Given the description of an element on the screen output the (x, y) to click on. 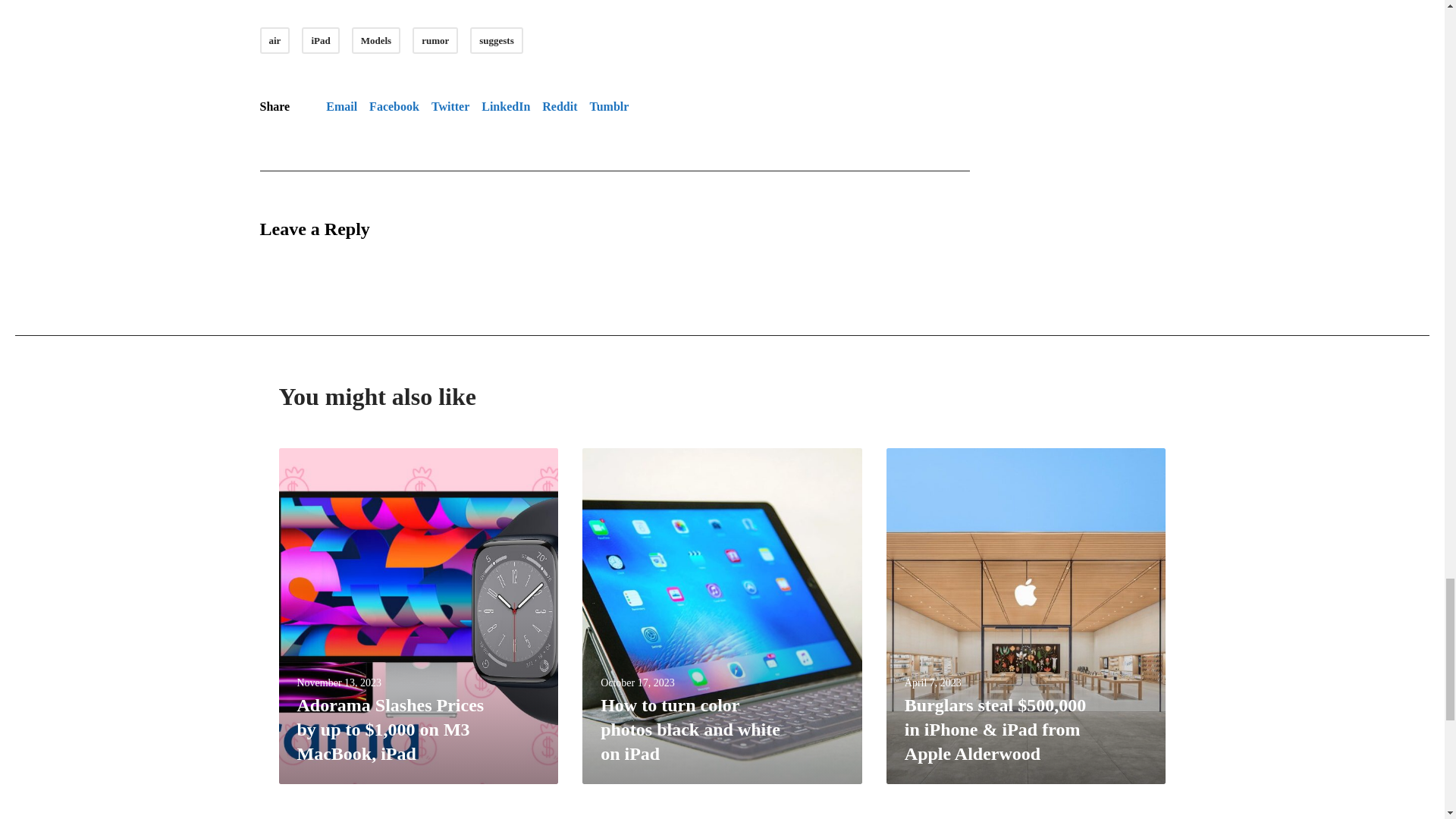
Reddit (558, 106)
Twitter (449, 106)
rumor (435, 40)
New rumor suggests four iPad Air models could be on the way (341, 106)
Facebook (394, 106)
air (274, 40)
Email (341, 106)
suggests (496, 40)
iPad (320, 40)
Models (376, 40)
LinkedIn (505, 106)
